Given the description of an element on the screen output the (x, y) to click on. 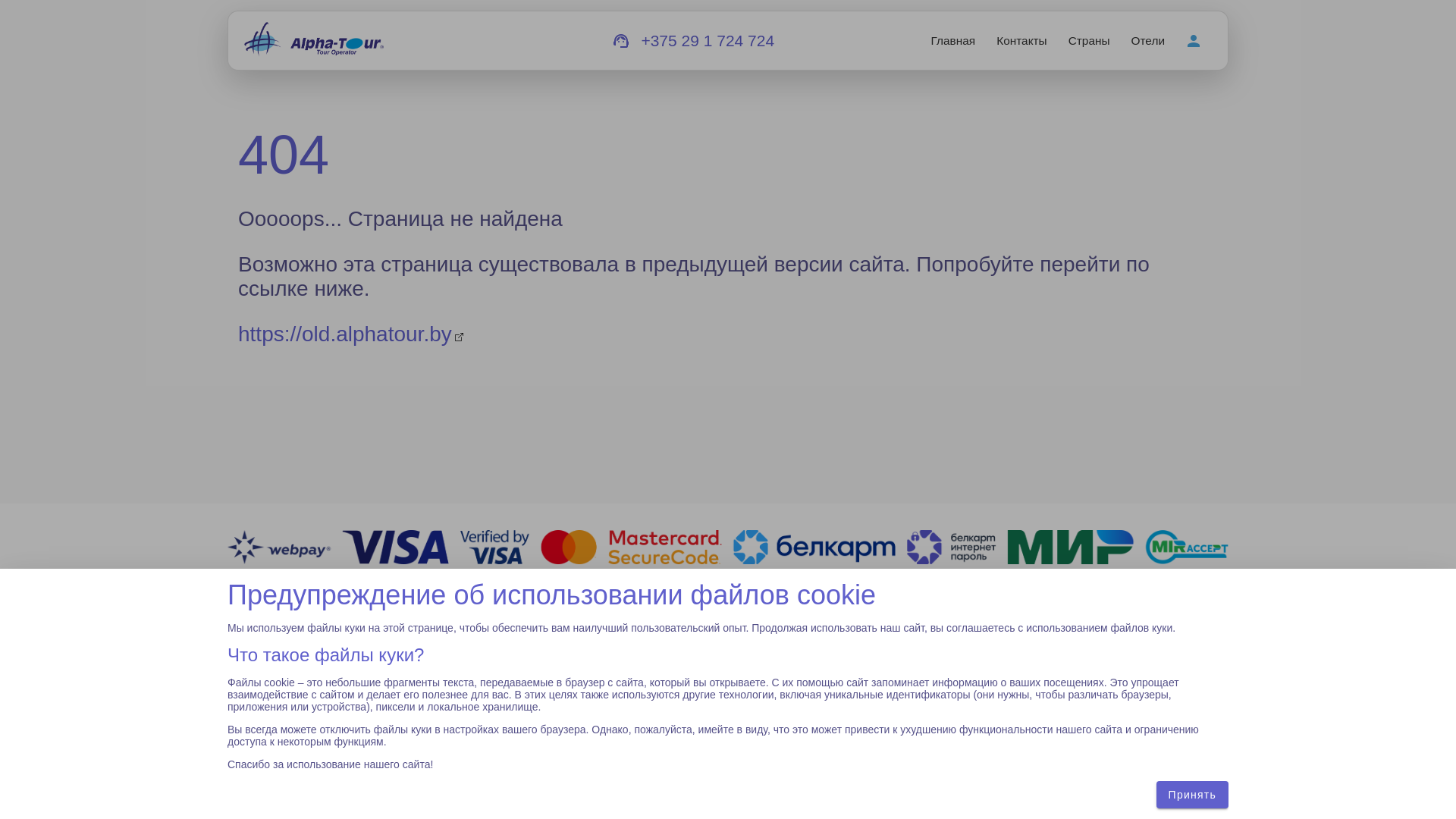
zakaz@alphatour.by Element type: text (296, 695)
+375 29 1 724 724 Element type: text (707, 40)
https://old.alphatour.by Element type: text (350, 333)
person Element type: text (1193, 40)
